Given the description of an element on the screen output the (x, y) to click on. 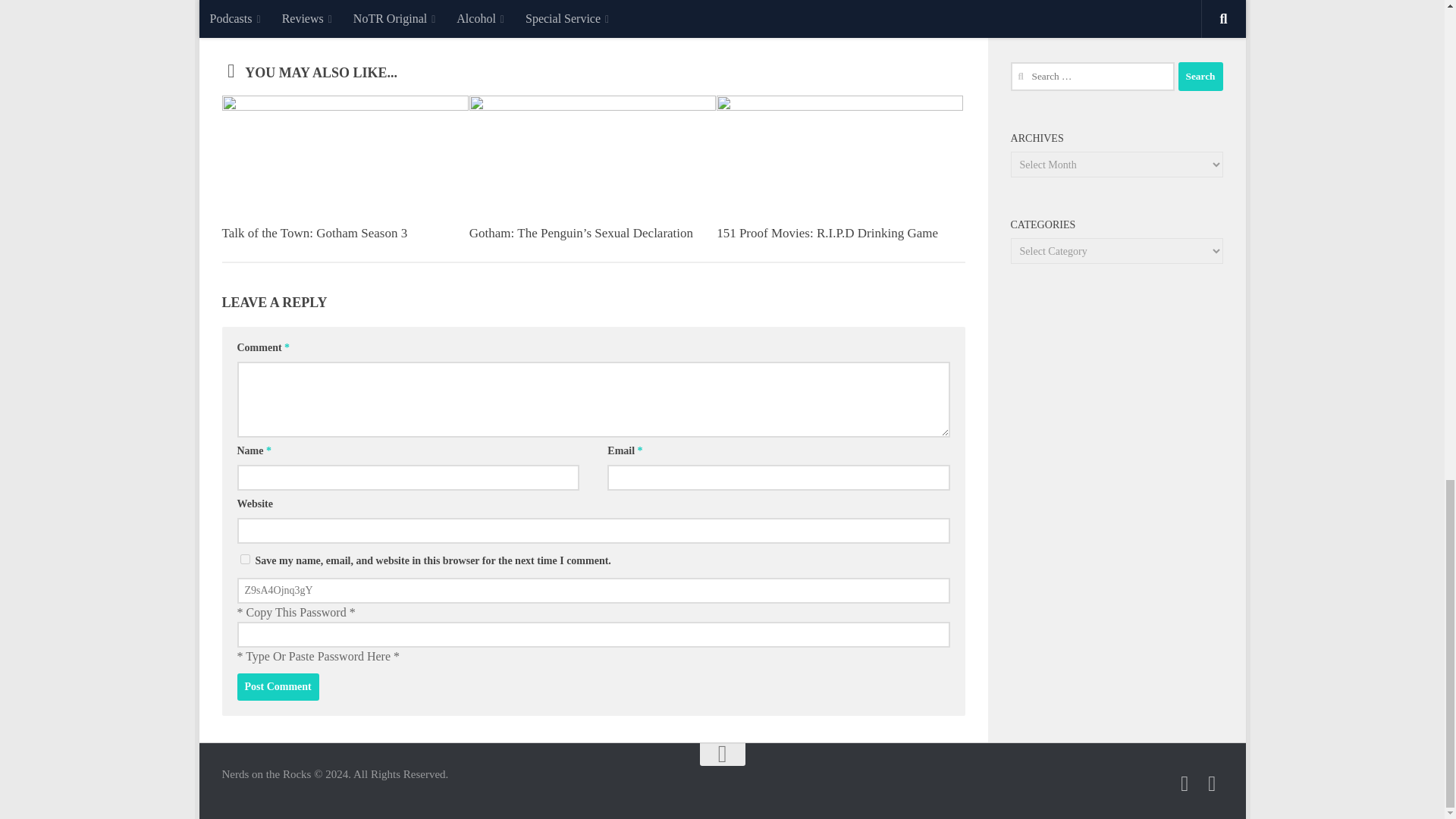
Search (1200, 76)
yes (244, 559)
Search (1200, 76)
Follow us on Twitter-square (1184, 783)
Post Comment (276, 687)
Follow us on Facebook-square (1212, 783)
Z9sA4Ojnq3gY (592, 590)
